Given the description of an element on the screen output the (x, y) to click on. 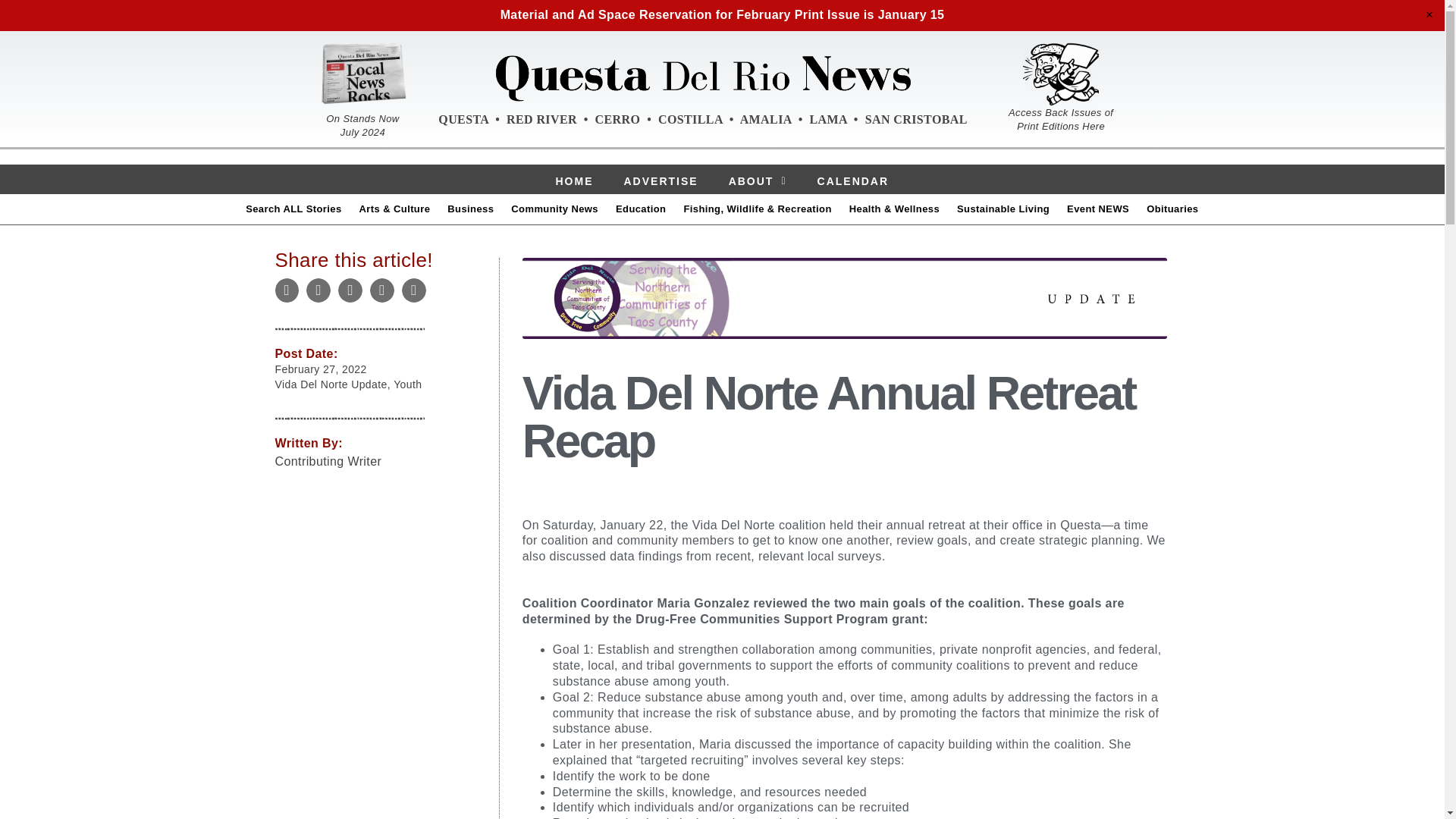
Sustainable Living (1002, 209)
ABOUT (757, 182)
Search ALL Stories (293, 209)
ADVERTISE (659, 182)
HOME (573, 182)
Event NEWS (1098, 209)
PDF Back Issues (1061, 74)
Education (640, 209)
CALENDAR (852, 182)
Obituaries (1172, 209)
Community News (554, 209)
Business (469, 209)
